Given the description of an element on the screen output the (x, y) to click on. 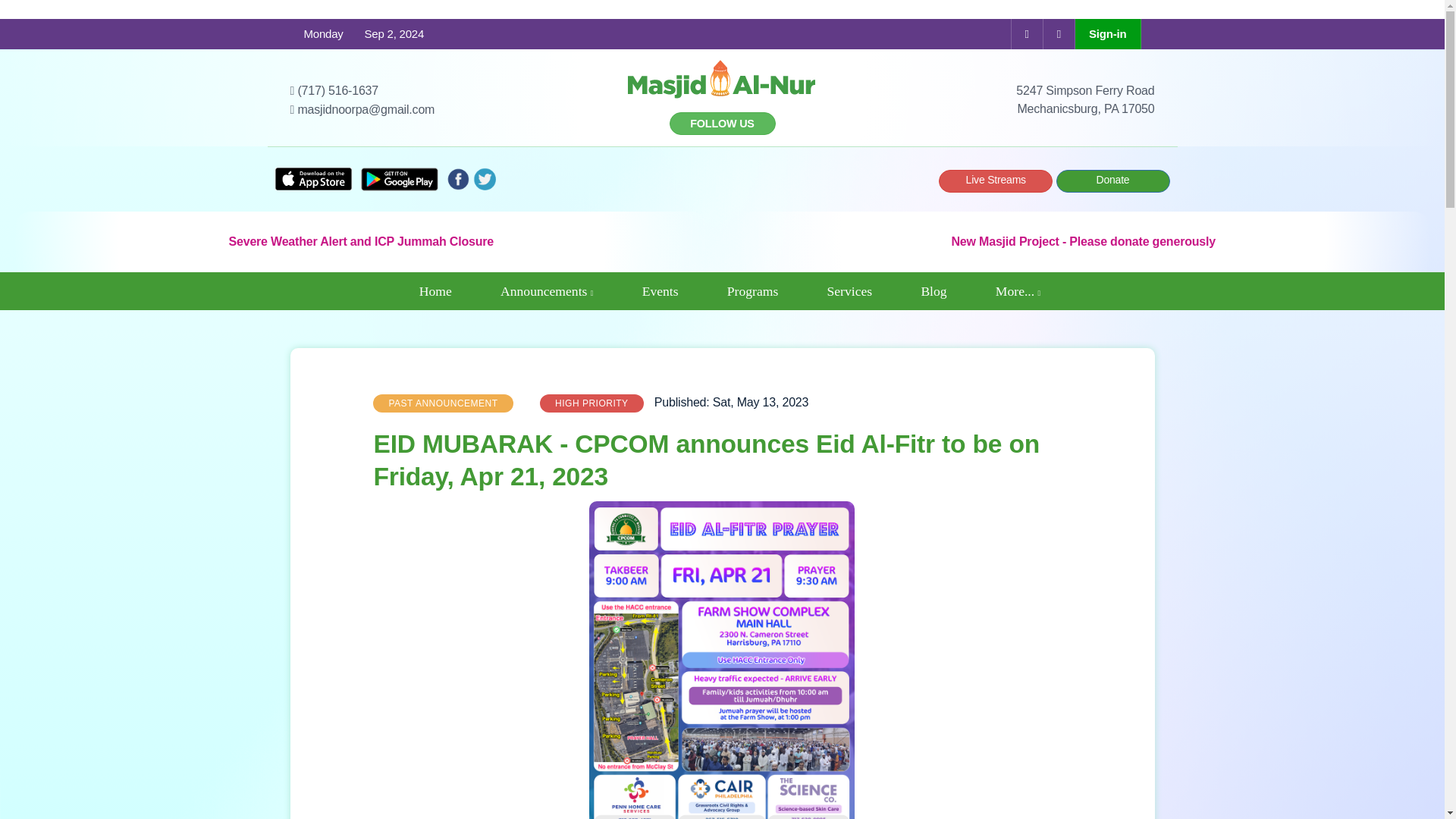
Donate (1112, 180)
Sign-in (1107, 33)
Live Streams (995, 180)
Announcements (546, 290)
New Masjid Project - Please donate generously (1083, 241)
FOLLOW US (721, 123)
Severe Weather Alert and ICP Jummah Closure (360, 241)
